Given the description of an element on the screen output the (x, y) to click on. 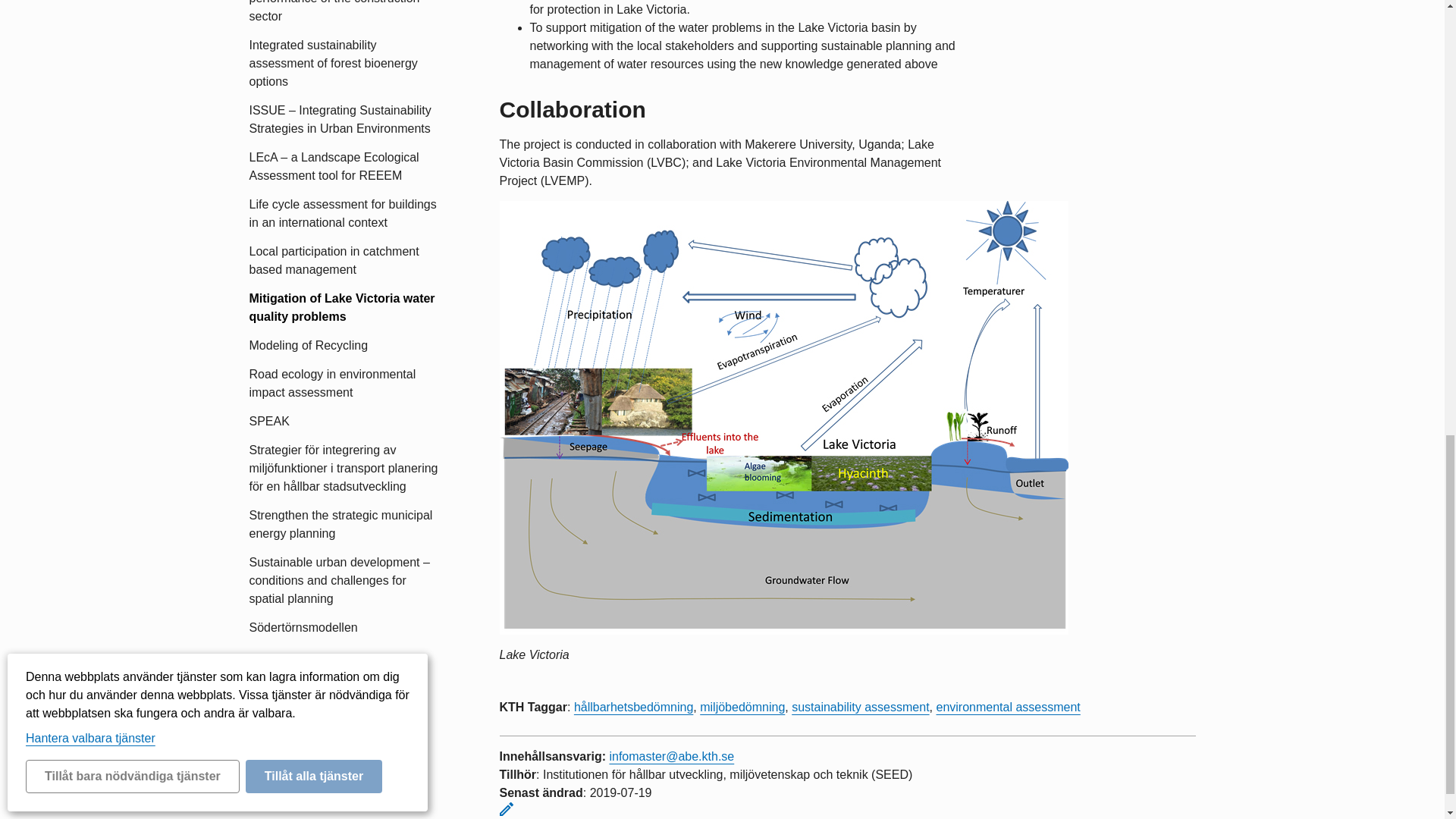
Redigera denna sida (505, 808)
